Given the description of an element on the screen output the (x, y) to click on. 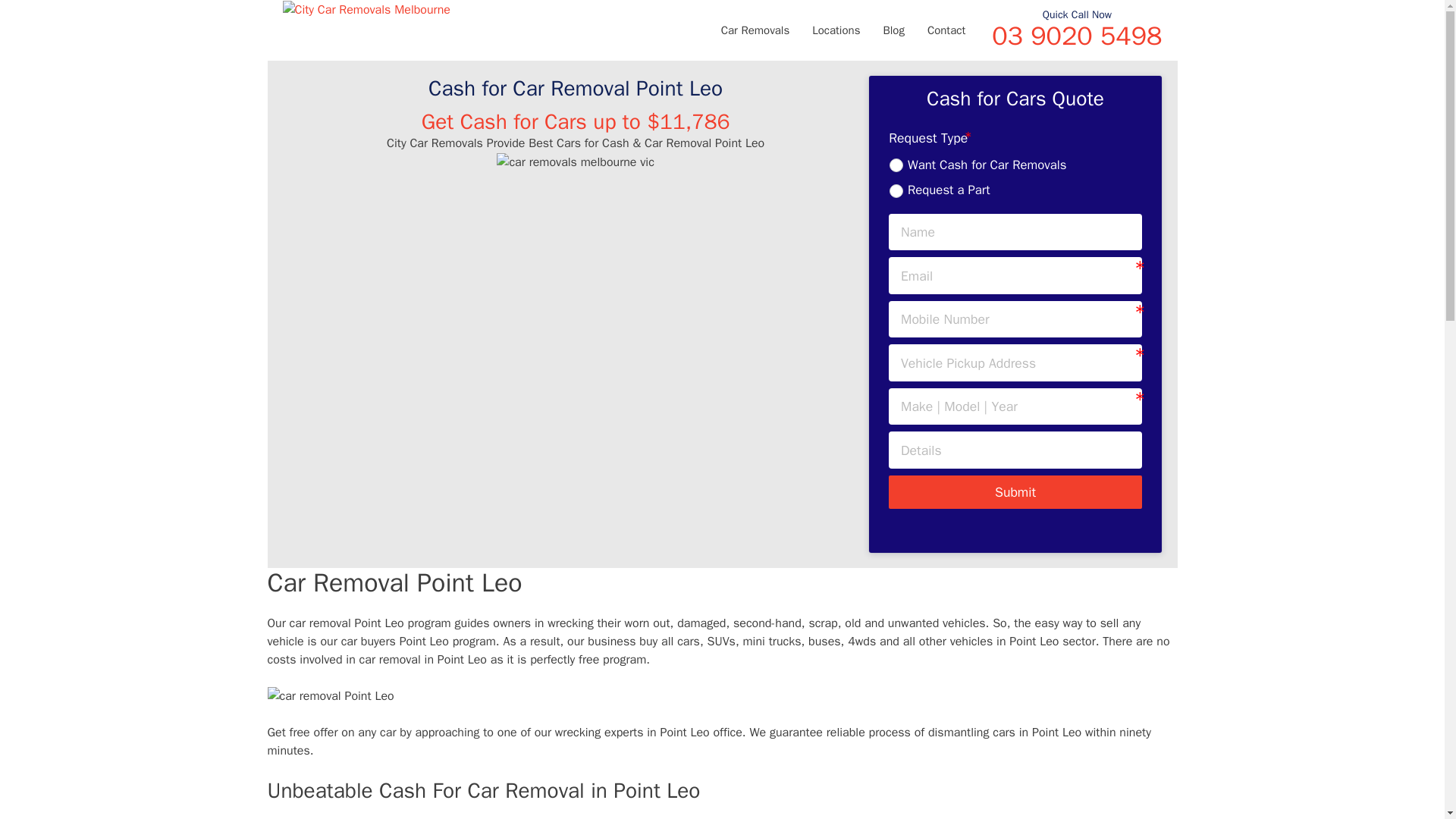
Submit (1014, 491)
03 9020 5498 (1076, 36)
City Car Removals Melbourne (365, 9)
Contact (945, 30)
Blog (892, 30)
Request a Part (895, 191)
Want Cash for Car Removals (895, 164)
Car Removals (755, 30)
Locations (835, 30)
Car Removal Point Leo 2 (329, 696)
City Car Removals Melbourne (365, 8)
